Given the description of an element on the screen output the (x, y) to click on. 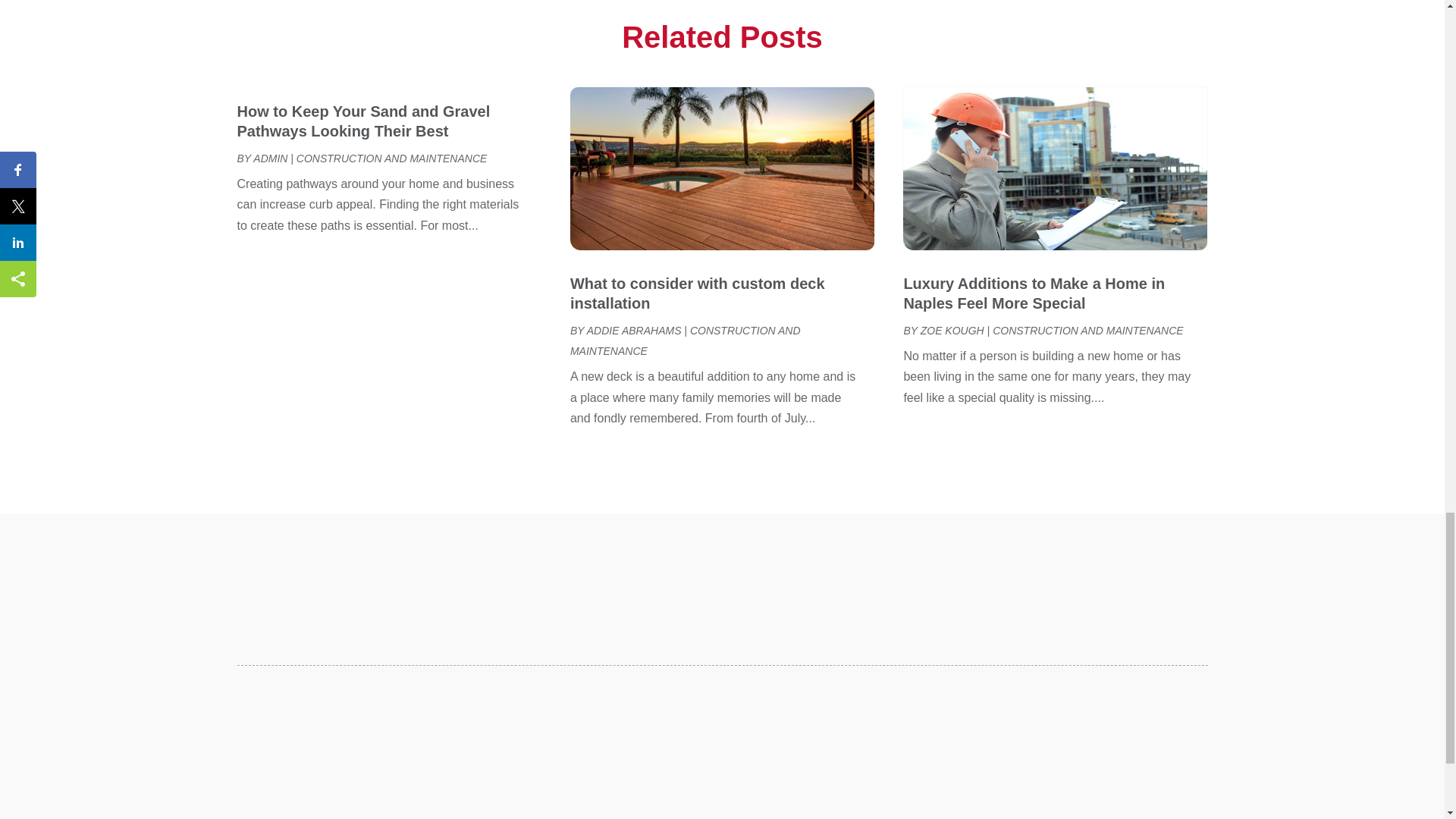
Posts by Zoe Kough (952, 330)
Posts by Addie Abrahams (633, 330)
Posts by admin (269, 158)
